Given the description of an element on the screen output the (x, y) to click on. 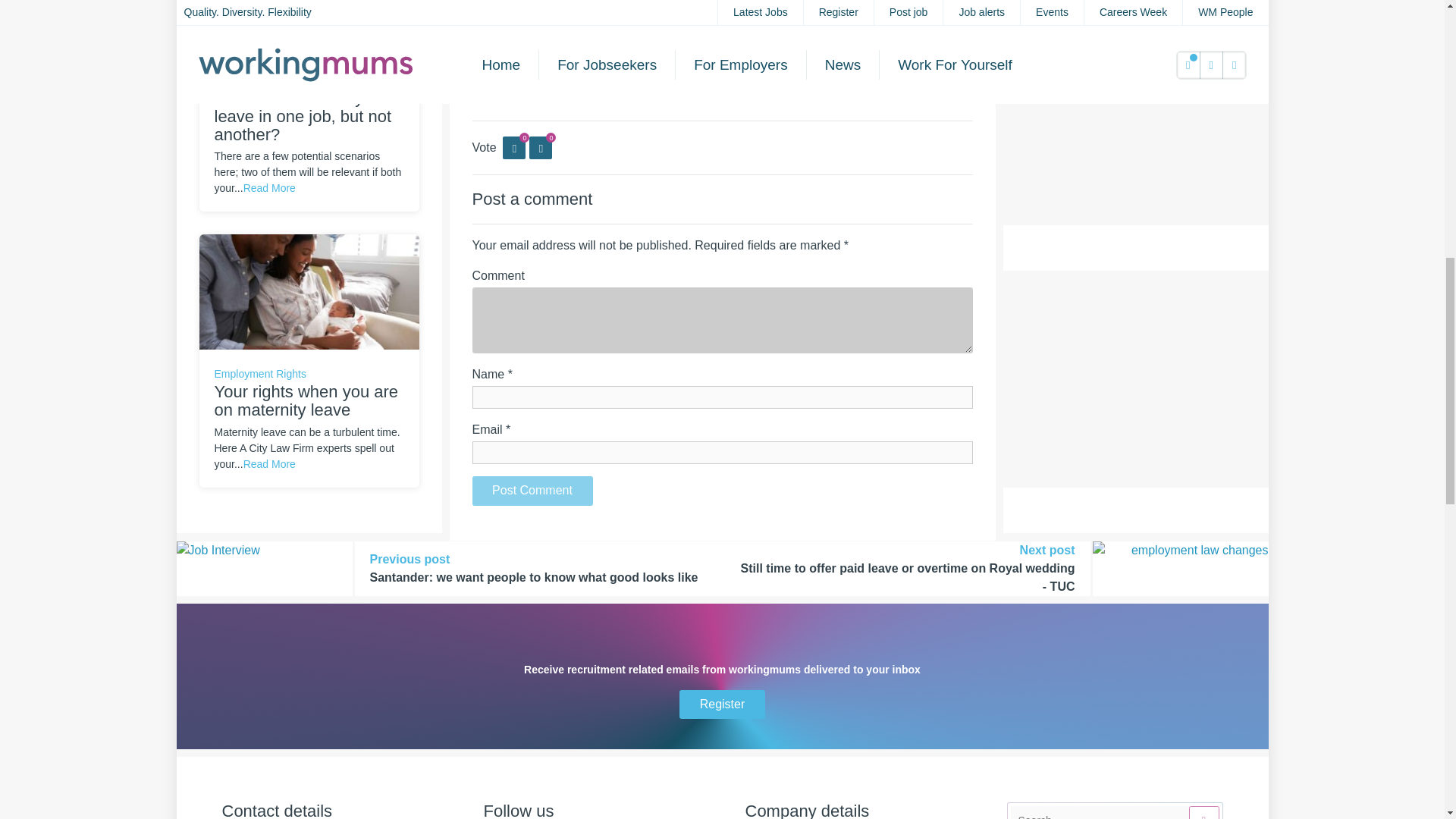
Your rights when you are on maternity leave (308, 290)
Can I take maternity leave in one job, but not another? (308, 1)
Post Comment (531, 490)
